Given the description of an element on the screen output the (x, y) to click on. 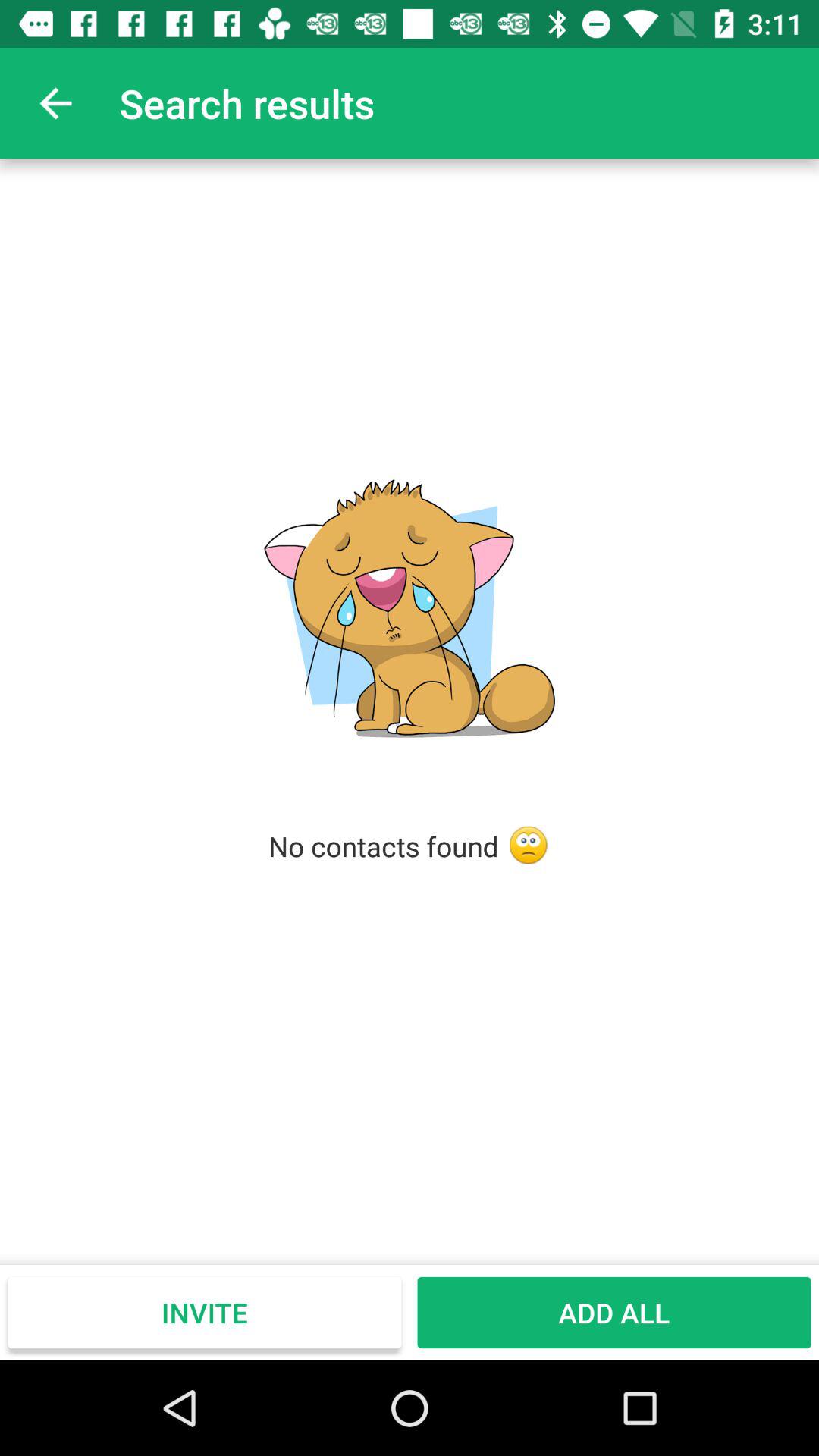
click the icon next to add all item (204, 1312)
